Given the description of an element on the screen output the (x, y) to click on. 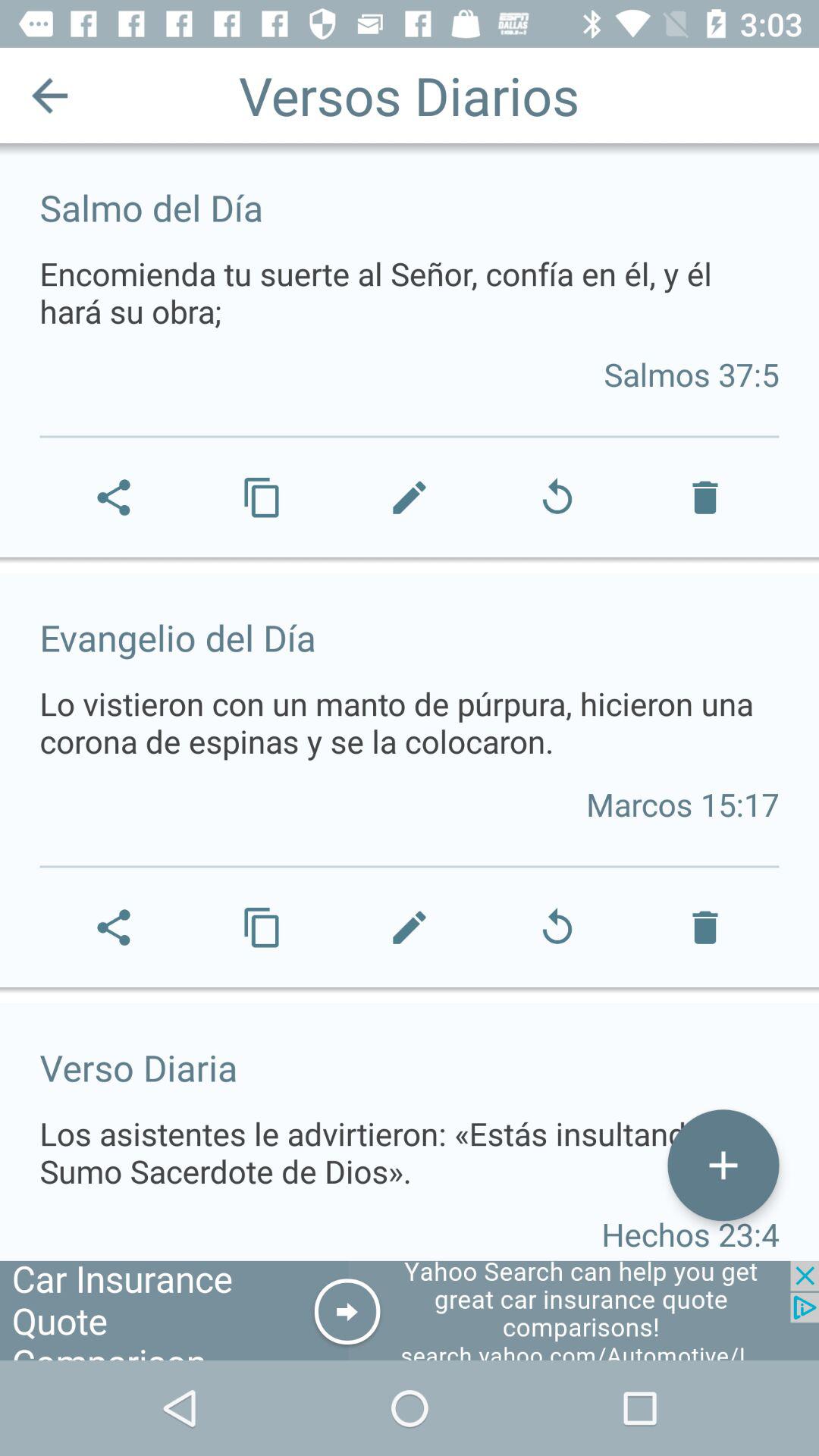
go to advertisement (409, 1310)
